Given the description of an element on the screen output the (x, y) to click on. 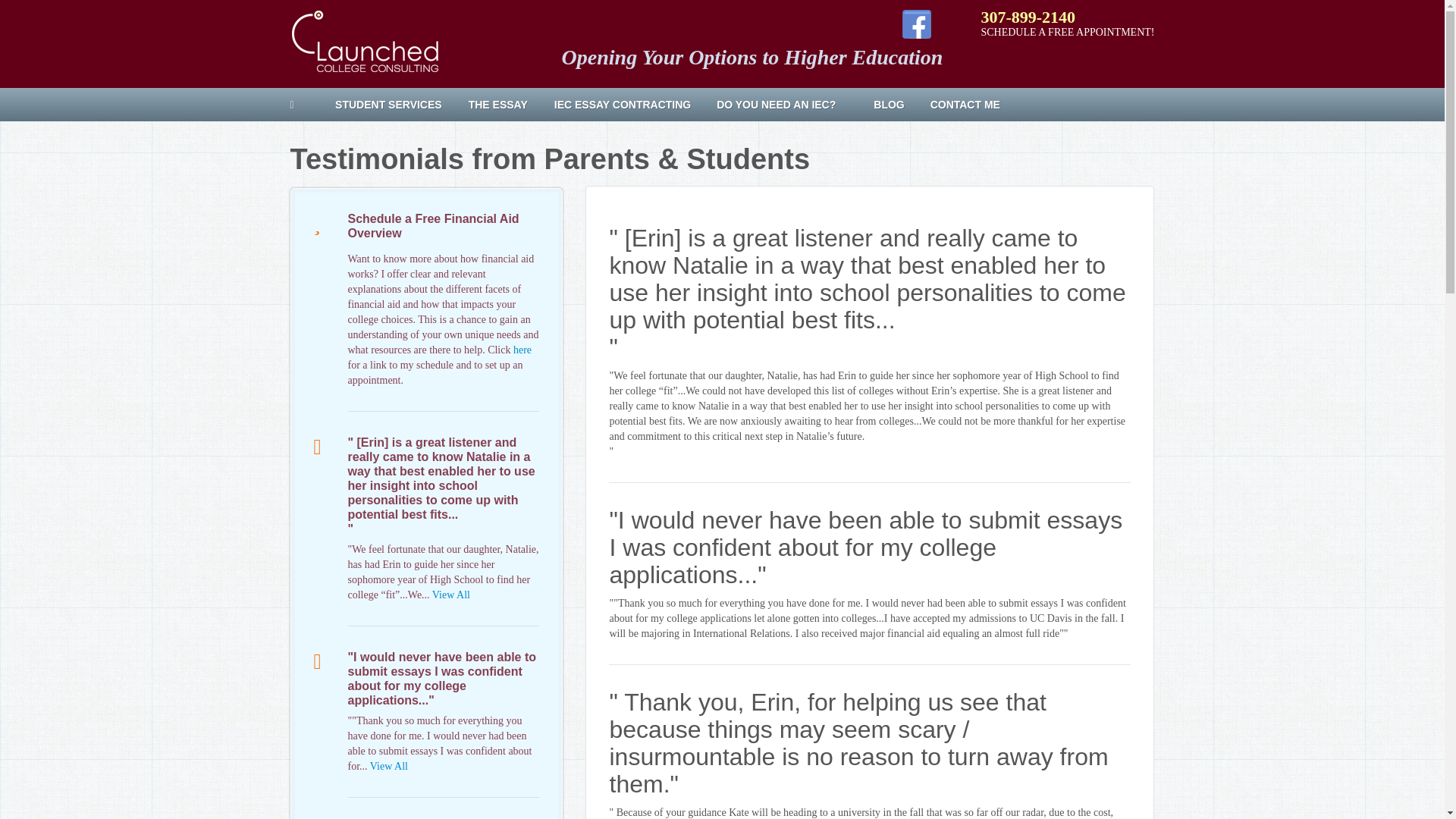
Blog News (894, 104)
307-899-2140 (1027, 16)
Student Essay Writing (503, 104)
THE ESSAY (503, 104)
View All (388, 766)
CONTACT ME (976, 104)
View All (451, 594)
DO YOU NEED AN IEC? (787, 104)
Essay Coaching (627, 104)
STUDENT SERVICES (393, 104)
